Given the description of an element on the screen output the (x, y) to click on. 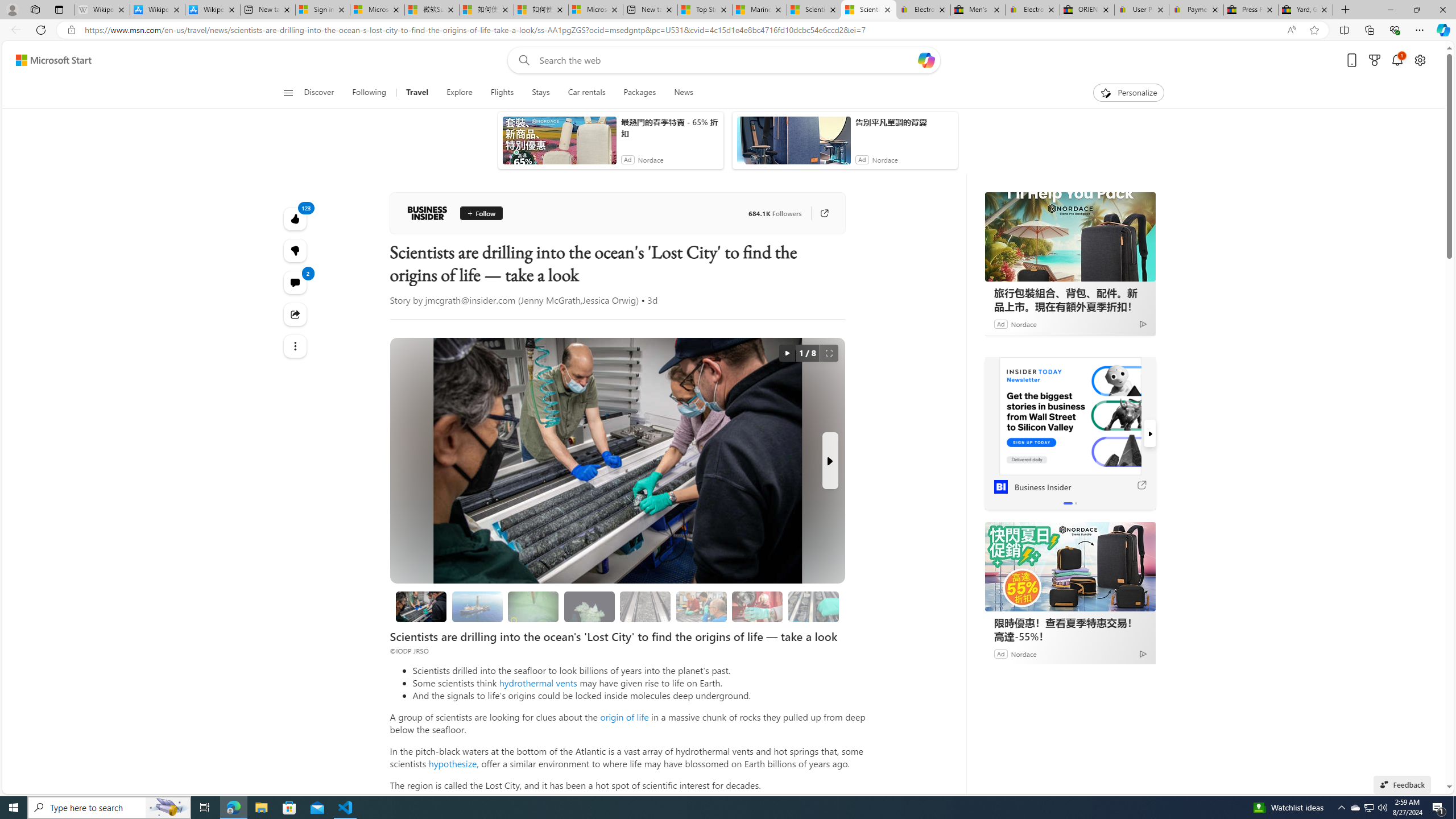
hydrothermal vents (537, 682)
Class: progress (813, 604)
previous (989, 433)
Stays (540, 92)
origin of life (624, 716)
